Given the description of an element on the screen output the (x, y) to click on. 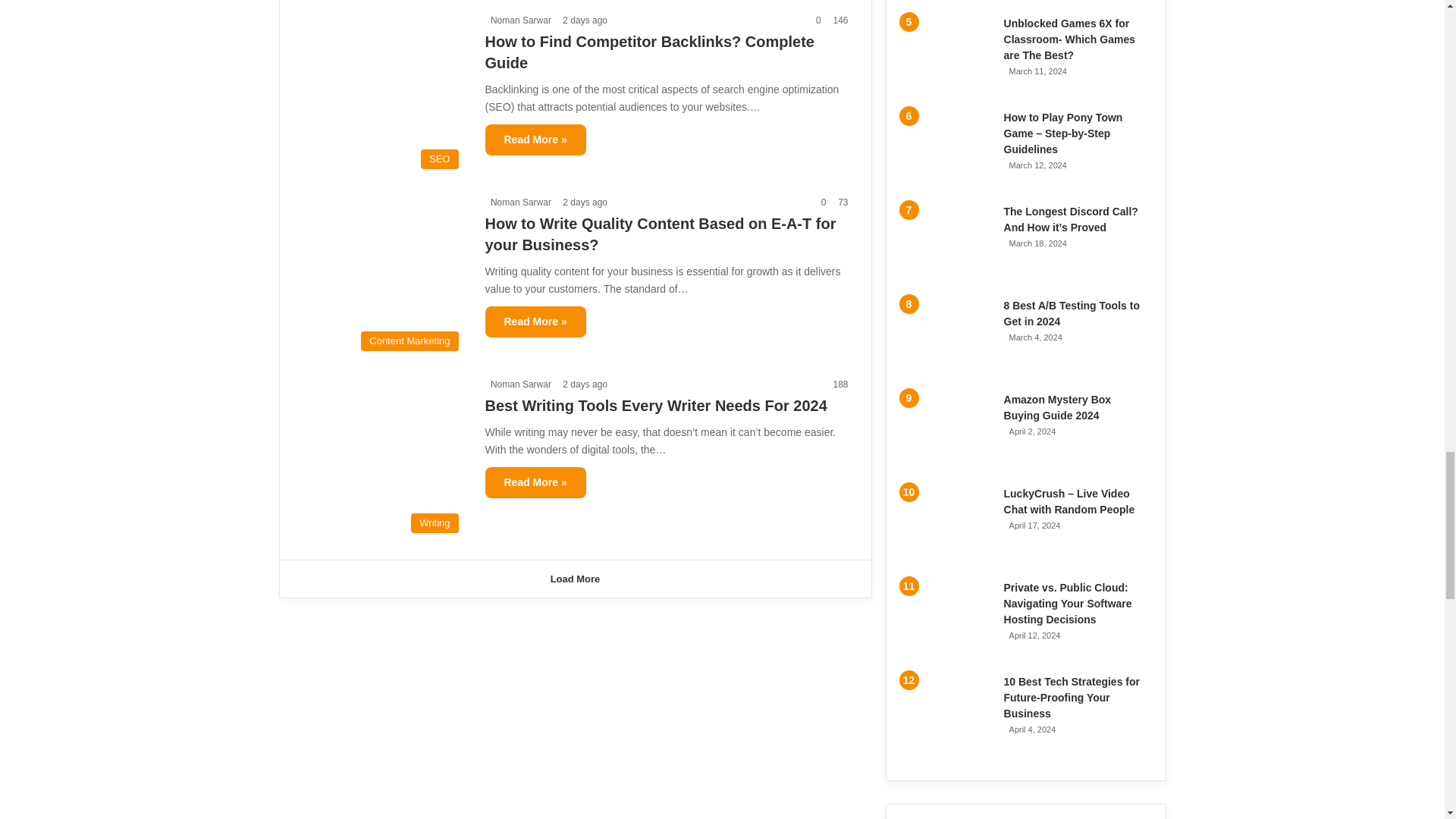
Noman Sarwar (517, 384)
Noman Sarwar (517, 20)
Noman Sarwar (517, 202)
